Given the description of an element on the screen output the (x, y) to click on. 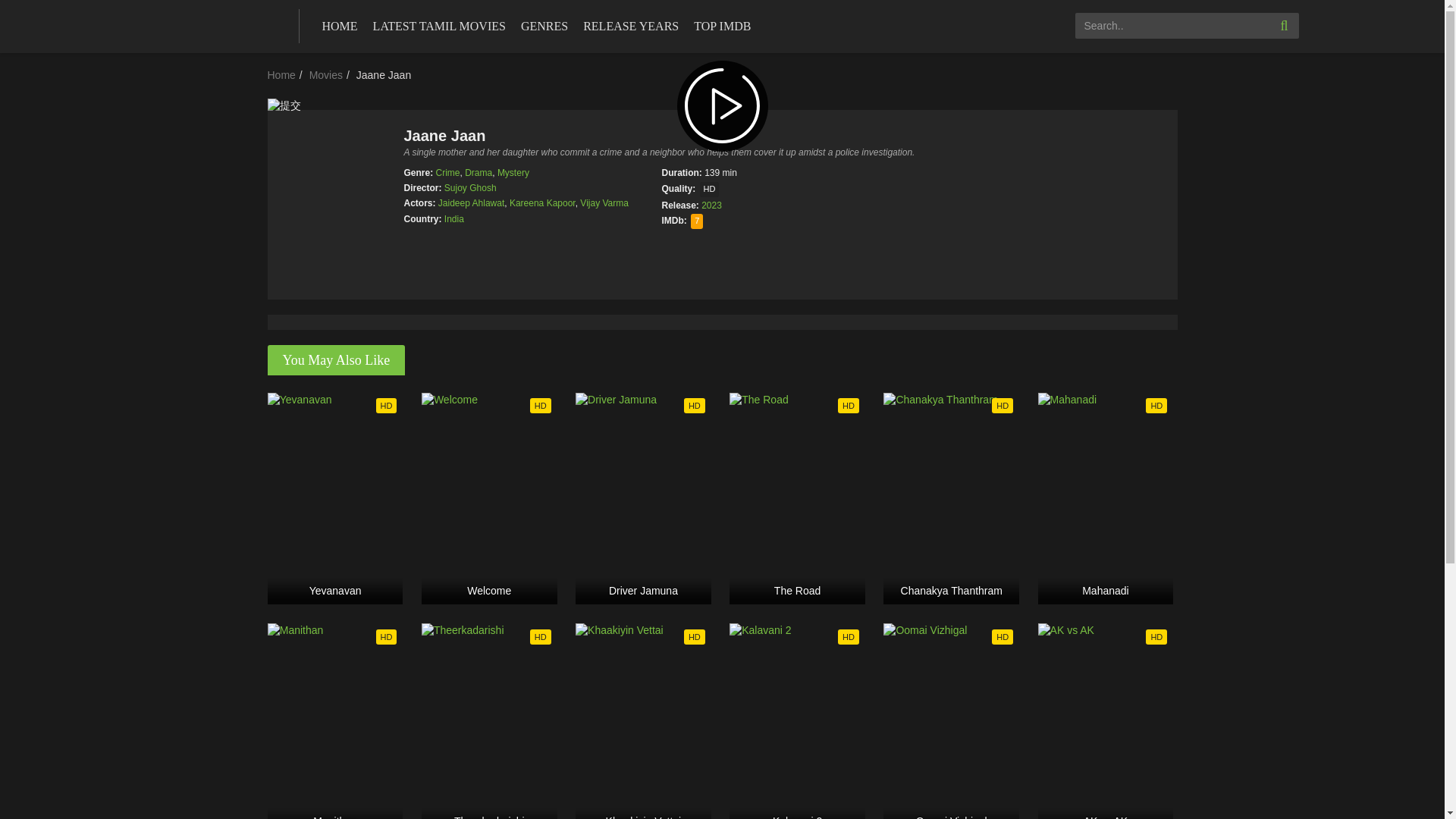
LATEST TAMIL MOVIES (439, 26)
TamilYogi.to (205, 24)
GENRES (544, 26)
RELEASE YEARS (630, 26)
